Given the description of an element on the screen output the (x, y) to click on. 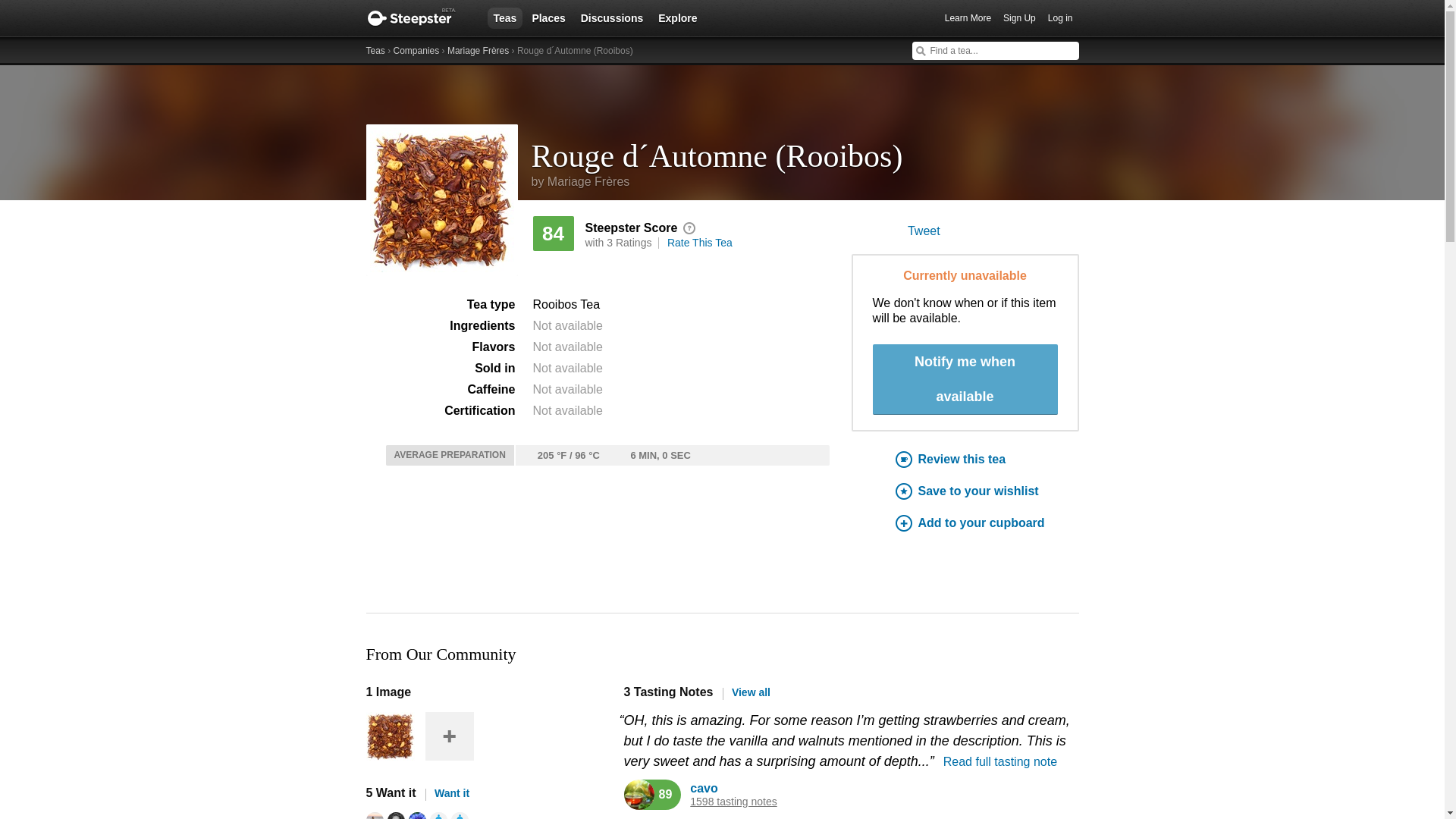
Rooibos Tea (565, 304)
Sign Up (1019, 18)
1598 tasting notes (733, 801)
Places (547, 17)
Review this tea (986, 458)
Save to your wishlist (986, 490)
Notify me when available (964, 378)
View all (746, 692)
Learn More (968, 18)
Tweet (923, 230)
